Given the description of an element on the screen output the (x, y) to click on. 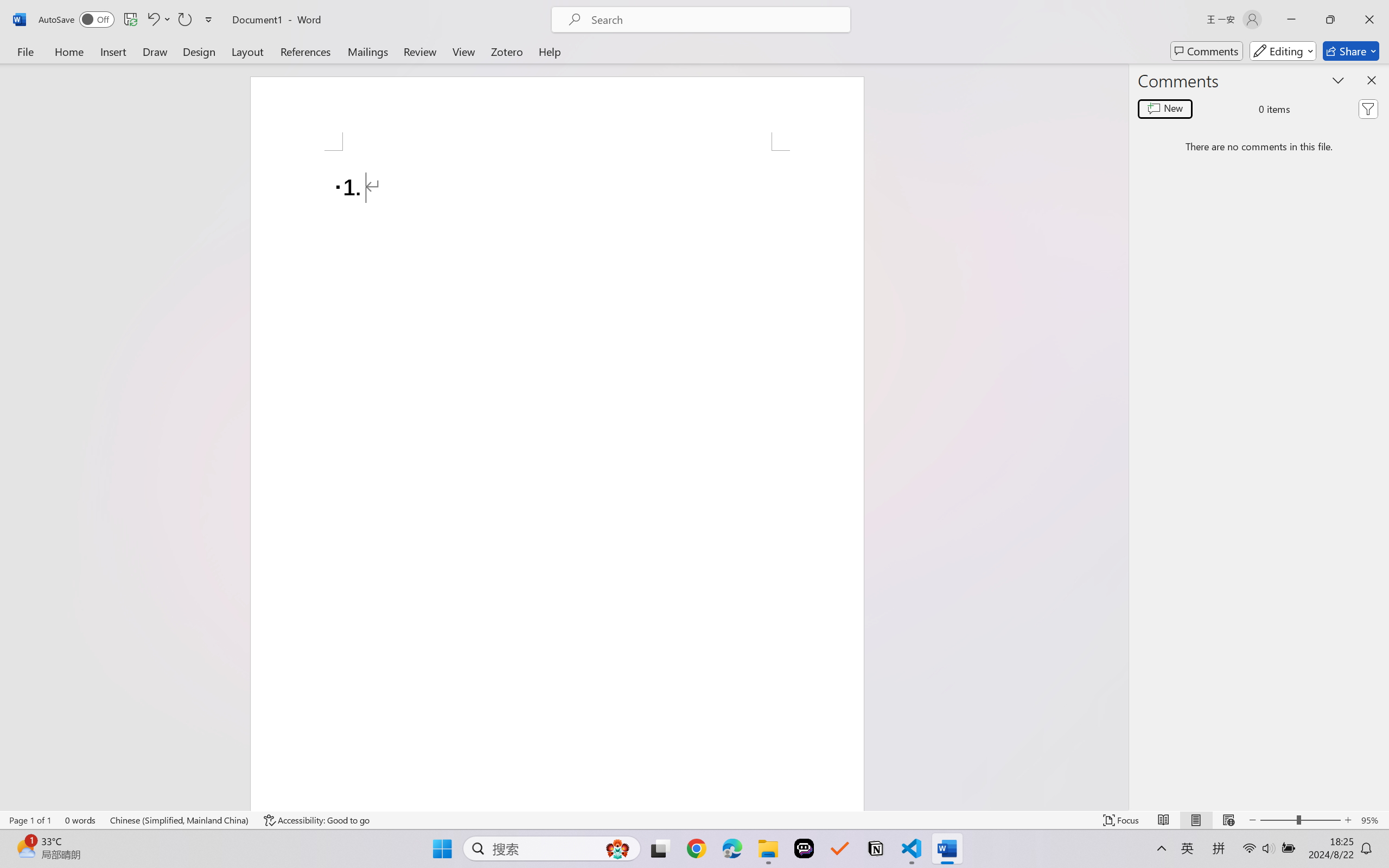
Language Chinese (Simplified, Mainland China) (179, 819)
Undo Number Default (158, 19)
